Given the description of an element on the screen output the (x, y) to click on. 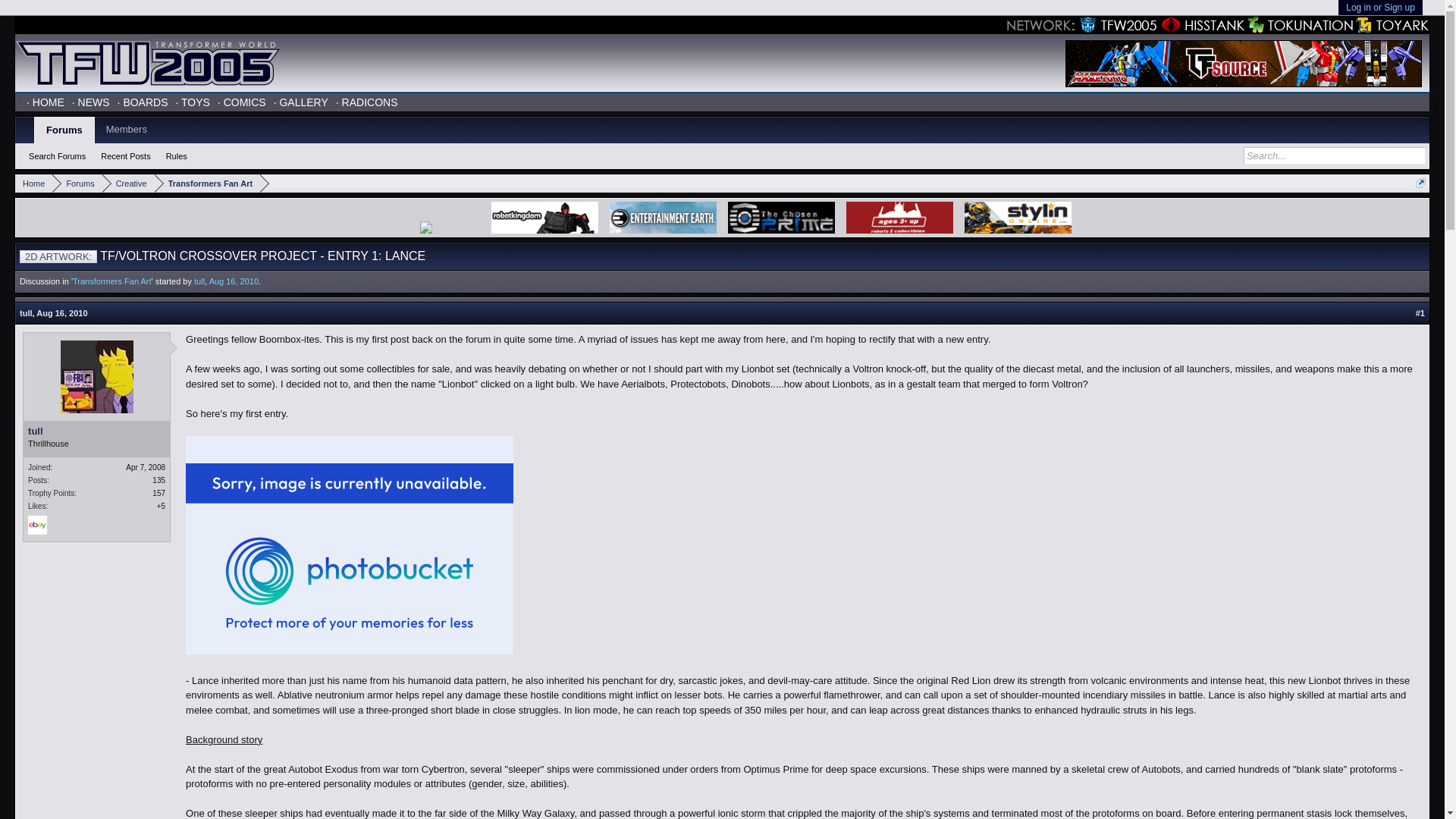
tull (199, 280)
135 (158, 479)
Forums (76, 183)
Log in or Sign up (1380, 7)
Open quick navigation (1420, 183)
Creative (127, 183)
Home (33, 183)
Aug 16, 2010 at 8:09 PM (234, 280)
tull (26, 312)
Permalink (61, 312)
157 (158, 492)
Aug 16, 2010 (61, 312)
tull (96, 431)
Transformers Fan Art (111, 280)
Aug 16, 2010 (234, 280)
